Given the description of an element on the screen output the (x, y) to click on. 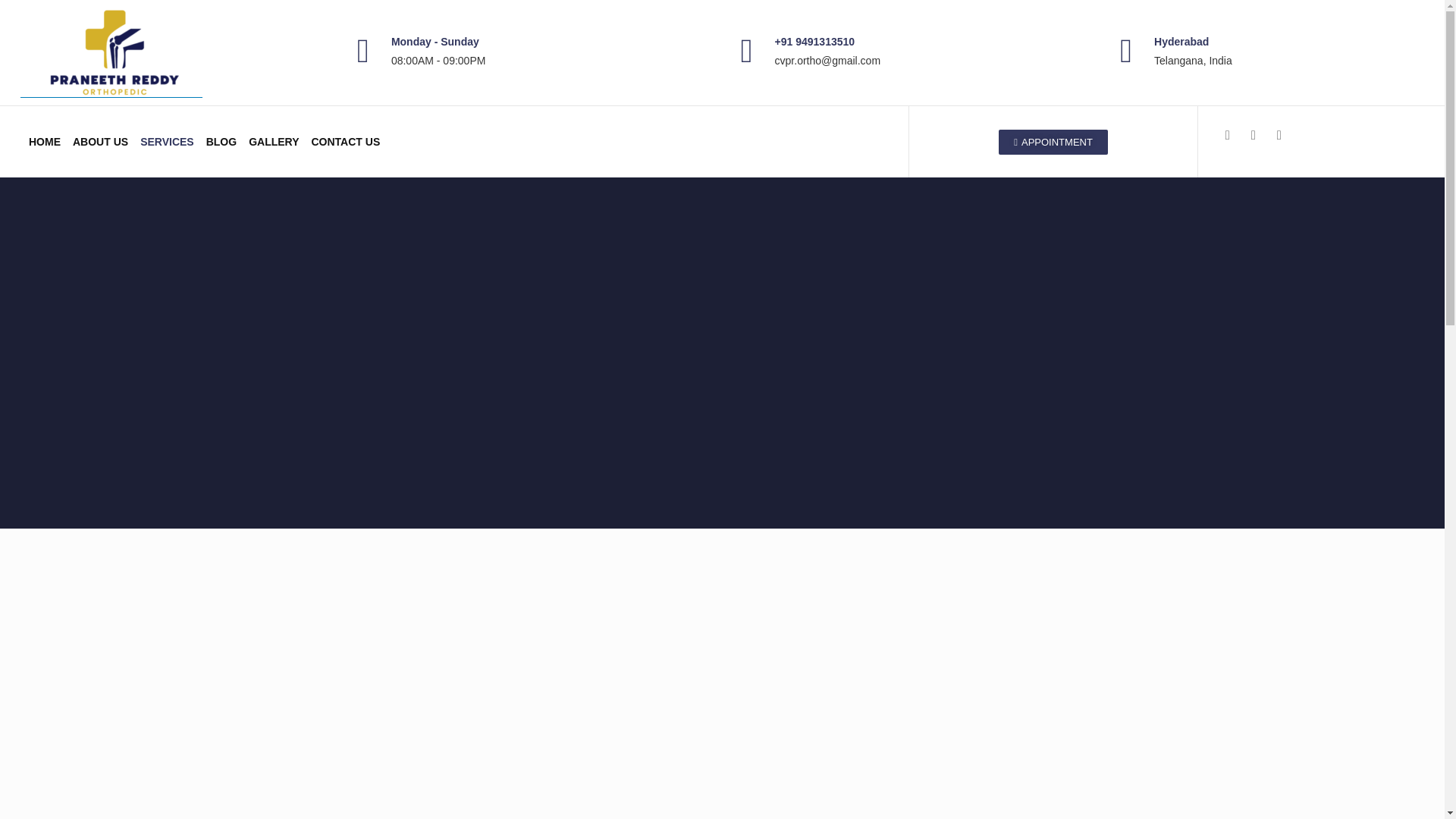
ABOUT US (99, 141)
CONTACT US (344, 141)
GALLERY (273, 141)
HOME (44, 141)
APPOINTMENT (1053, 140)
BLOG (221, 141)
SERVICES (166, 141)
